Given the description of an element on the screen output the (x, y) to click on. 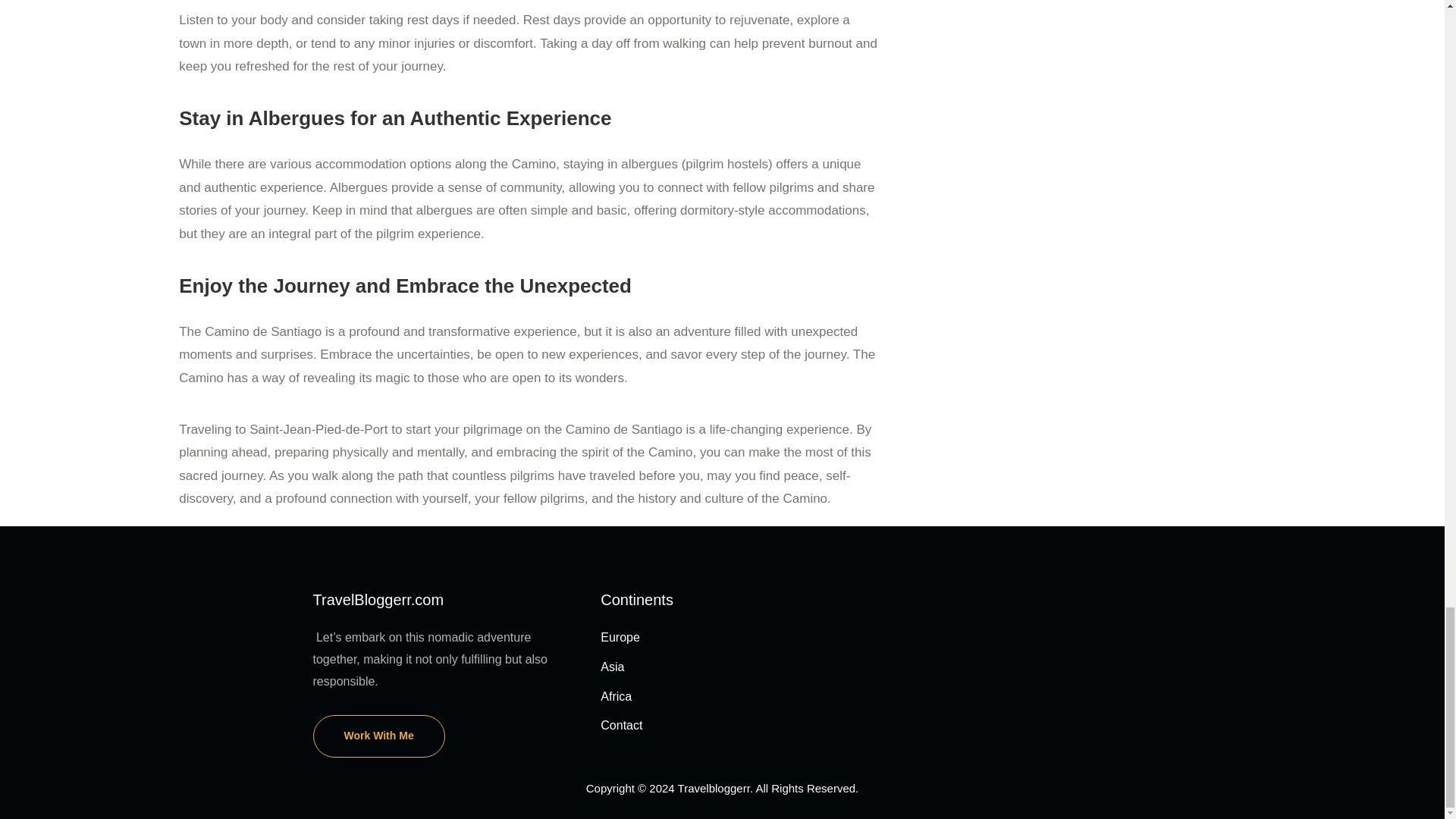
Asia (611, 666)
Europe (619, 636)
Africa (615, 696)
Contact (620, 725)
Work With Me (378, 735)
